Given the description of an element on the screen output the (x, y) to click on. 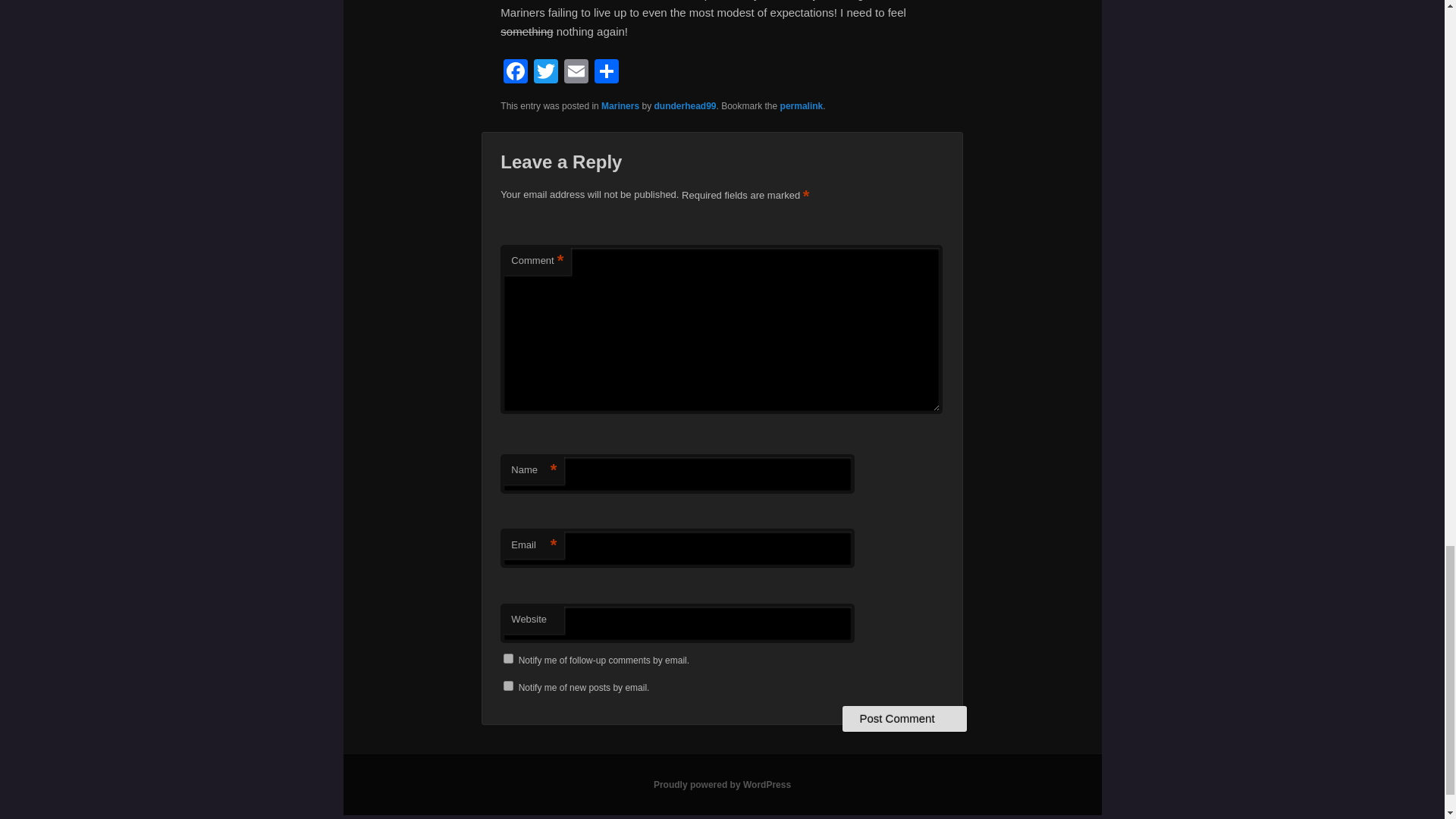
Twitter (545, 72)
subscribe (508, 685)
Email (575, 72)
Post Comment (904, 718)
subscribe (508, 658)
Semantic Personal Publishing Platform (721, 784)
Facebook (515, 72)
